Given the description of an element on the screen output the (x, y) to click on. 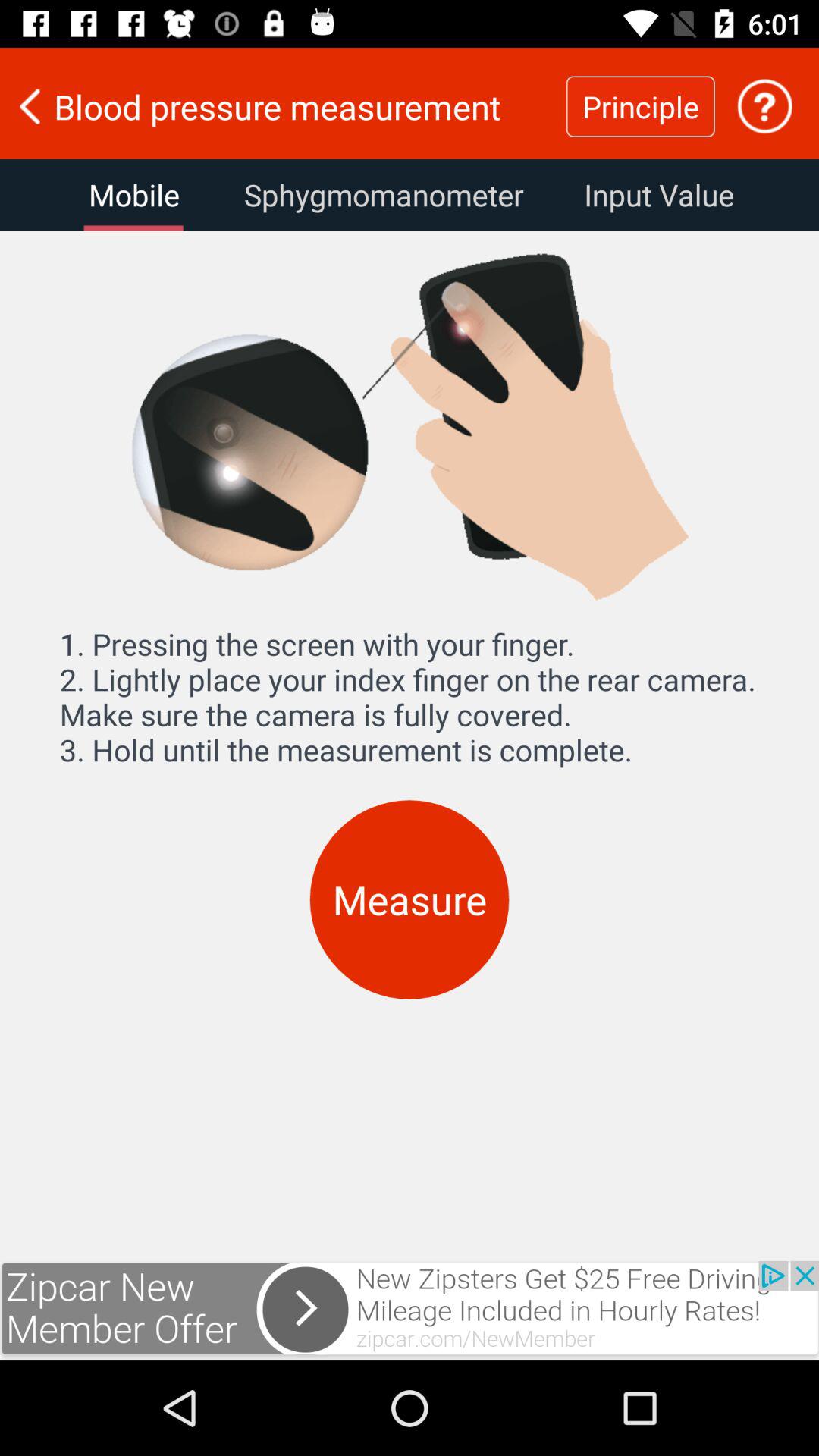
select the question mark option (764, 106)
